Given the description of an element on the screen output the (x, y) to click on. 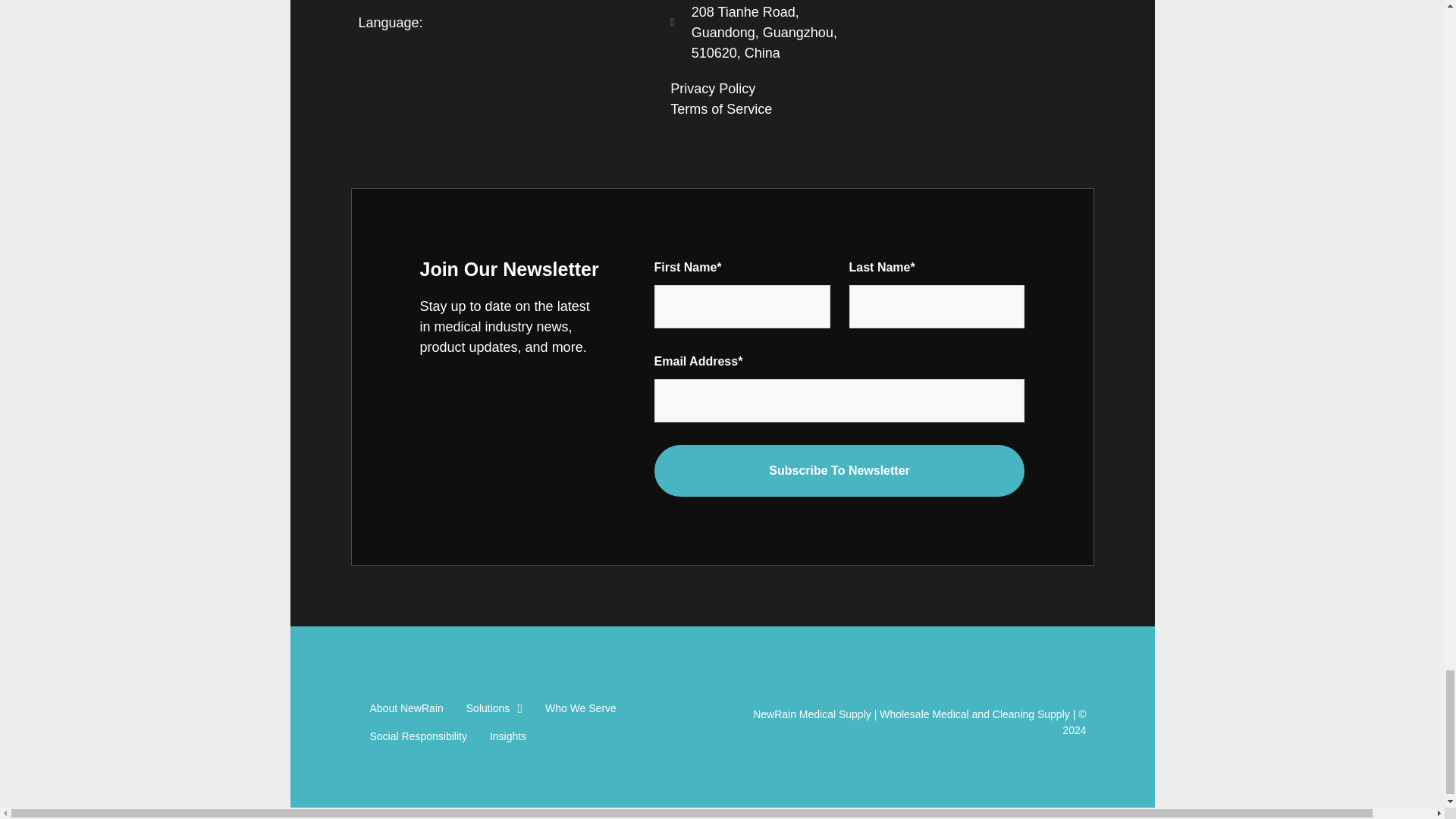
Japanese (405, 44)
English (386, 44)
Korean (425, 44)
Spanish (445, 44)
